Given the description of an element on the screen output the (x, y) to click on. 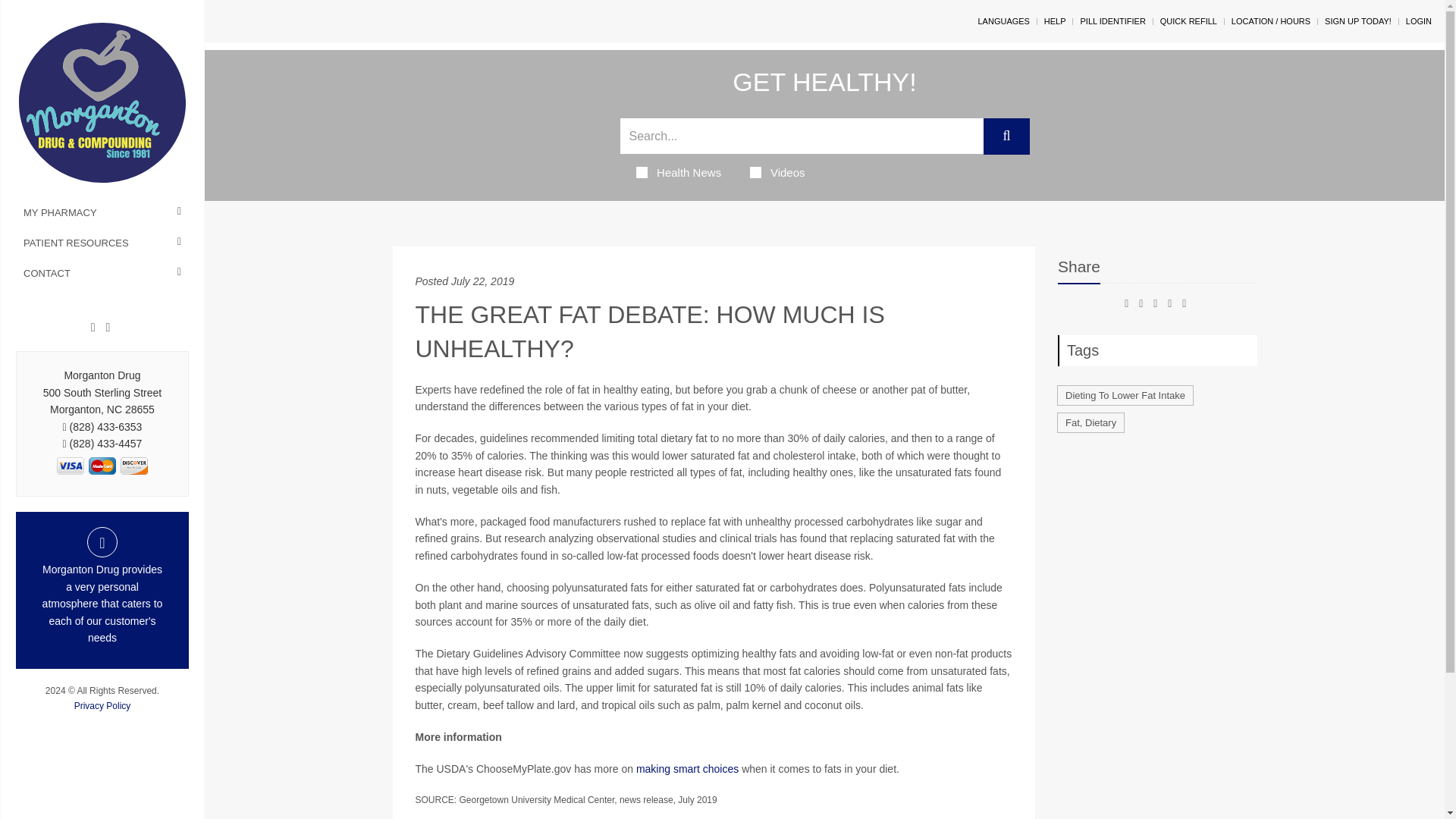
LANGUAGES (1002, 20)
QUICK REFILL (1188, 20)
0 (70, 466)
2 (133, 466)
Dieting To Lower Fat Intake (1125, 394)
1 (101, 466)
LOGIN (1418, 20)
Fat, Dietary (1090, 422)
HELP (1054, 20)
PATIENT RESOURCES (102, 243)
Privacy Policy (102, 706)
SIGN UP TODAY! (1357, 20)
making smart choices (687, 768)
MY PHARMACY (102, 213)
CONTACT (102, 273)
